Given the description of an element on the screen output the (x, y) to click on. 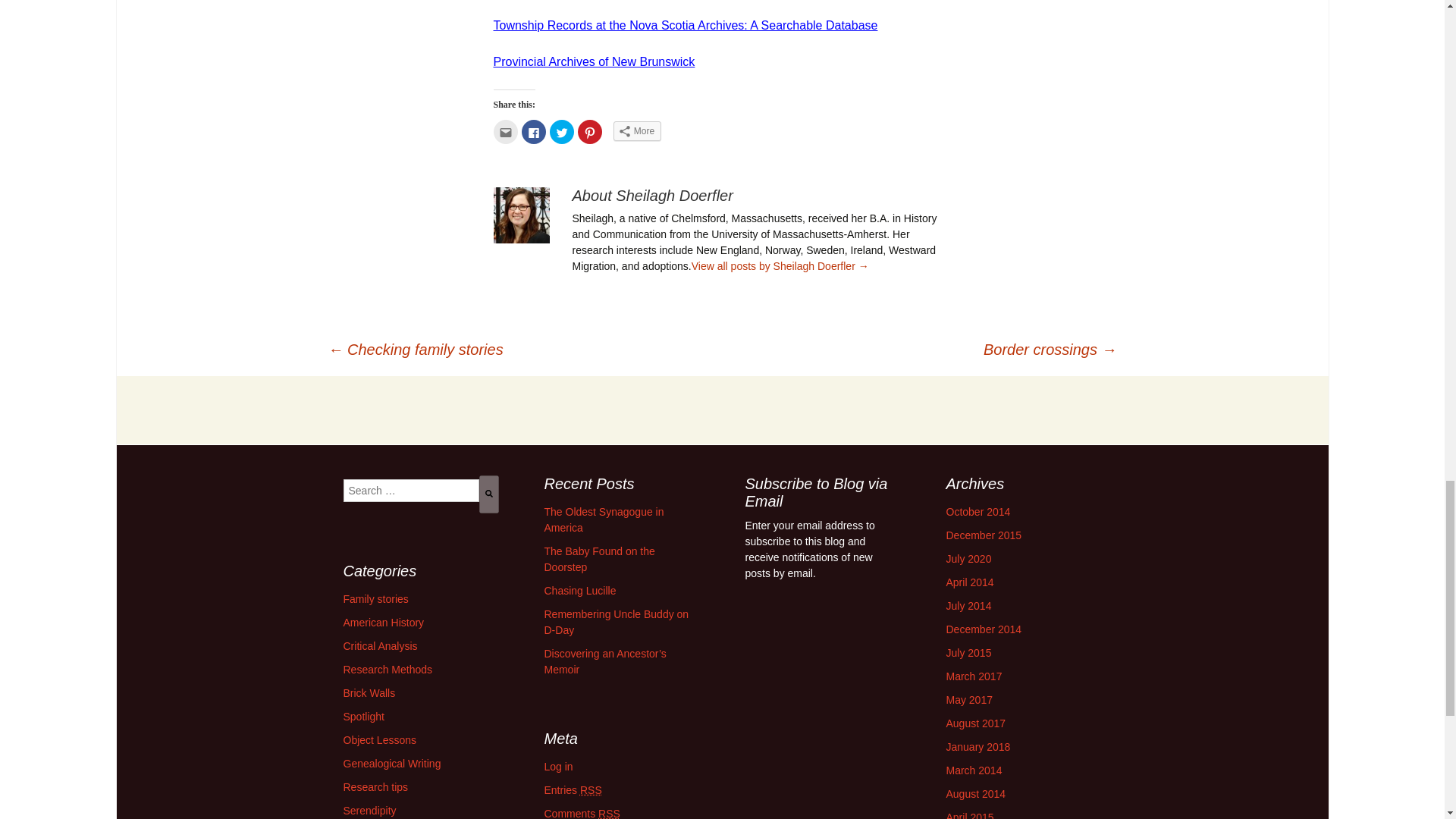
Really Simple Syndication (590, 789)
Really Simple Syndication (609, 813)
Click to share on Pinterest (590, 131)
Click to share on Twitter (560, 131)
Click to share on Facebook (533, 131)
Click to email this to a friend (504, 131)
